Given the description of an element on the screen output the (x, y) to click on. 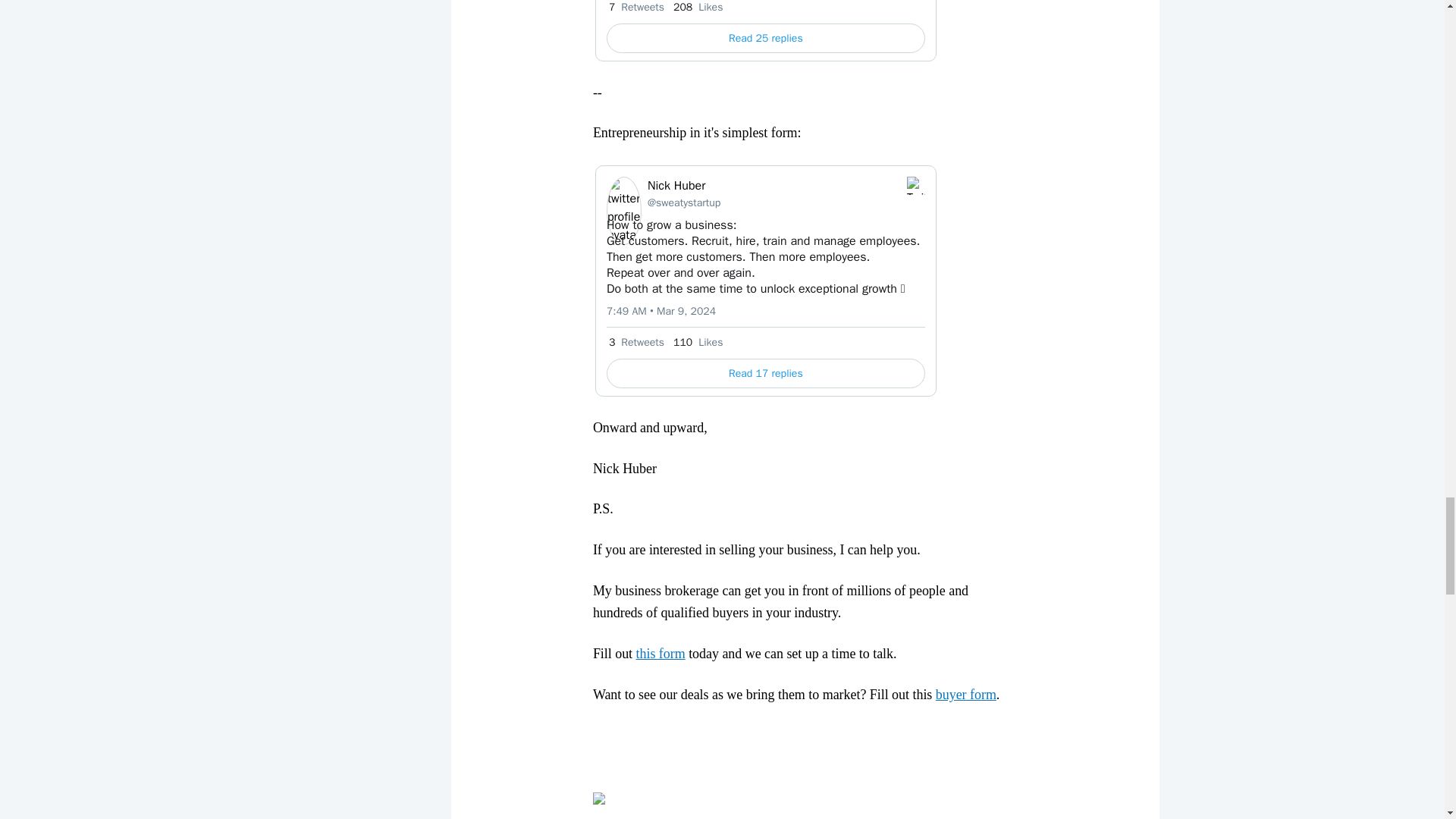
Read 17 replies (765, 373)
Read 25 replies (765, 37)
this form (660, 653)
buyer form (965, 694)
